Given the description of an element on the screen output the (x, y) to click on. 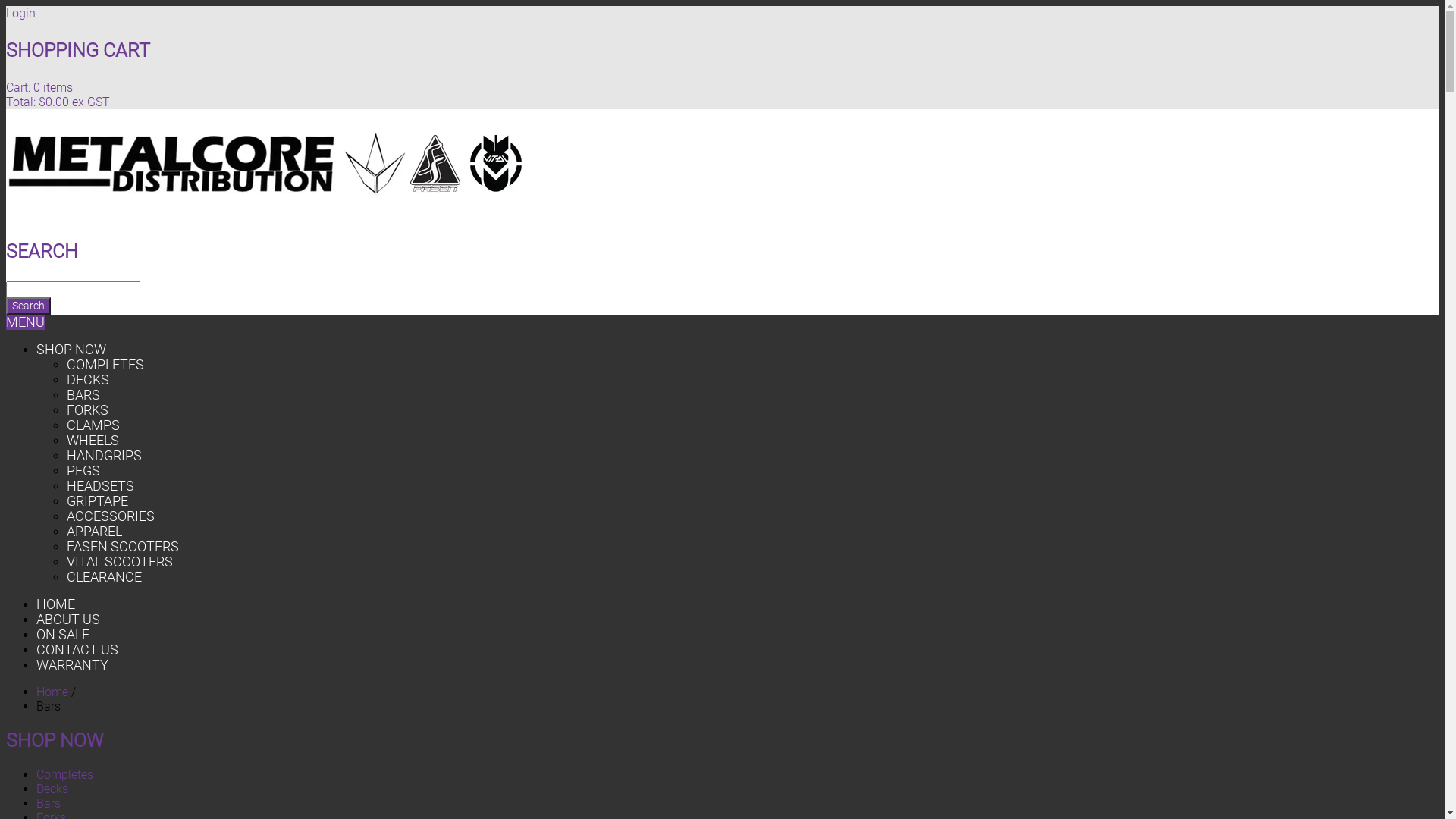
Bars Element type: text (48, 803)
PEGS Element type: text (83, 470)
CLEARANCE Element type: text (103, 576)
HEADSETS Element type: text (100, 485)
FORKS Element type: text (87, 409)
WARRANTY Element type: text (72, 664)
HOME Element type: text (55, 603)
CLAMPS Element type: text (92, 425)
ACCESSORIES Element type: text (110, 516)
BARS Element type: text (83, 394)
ABOUT US Element type: text (68, 619)
HANDGRIPS Element type: text (103, 455)
WHEELS Element type: text (92, 440)
Total: $0.00 ex GST Element type: text (57, 101)
Cart: 0 items Element type: text (39, 87)
Decks Element type: text (52, 788)
FASEN SCOOTERS Element type: text (122, 546)
ON SALE Element type: text (62, 634)
Search Element type: text (28, 305)
GRIPTAPE Element type: text (97, 500)
DECKS Element type: text (87, 379)
APPAREL Element type: text (94, 531)
SHOP NOW Element type: text (71, 349)
COMPLETES Element type: text (105, 364)
MENU Element type: text (25, 321)
CONTACT US Element type: text (77, 649)
VITAL SCOOTERS Element type: text (119, 561)
Completes Element type: text (64, 774)
Home Element type: text (52, 691)
Login Element type: text (20, 13)
